Given the description of an element on the screen output the (x, y) to click on. 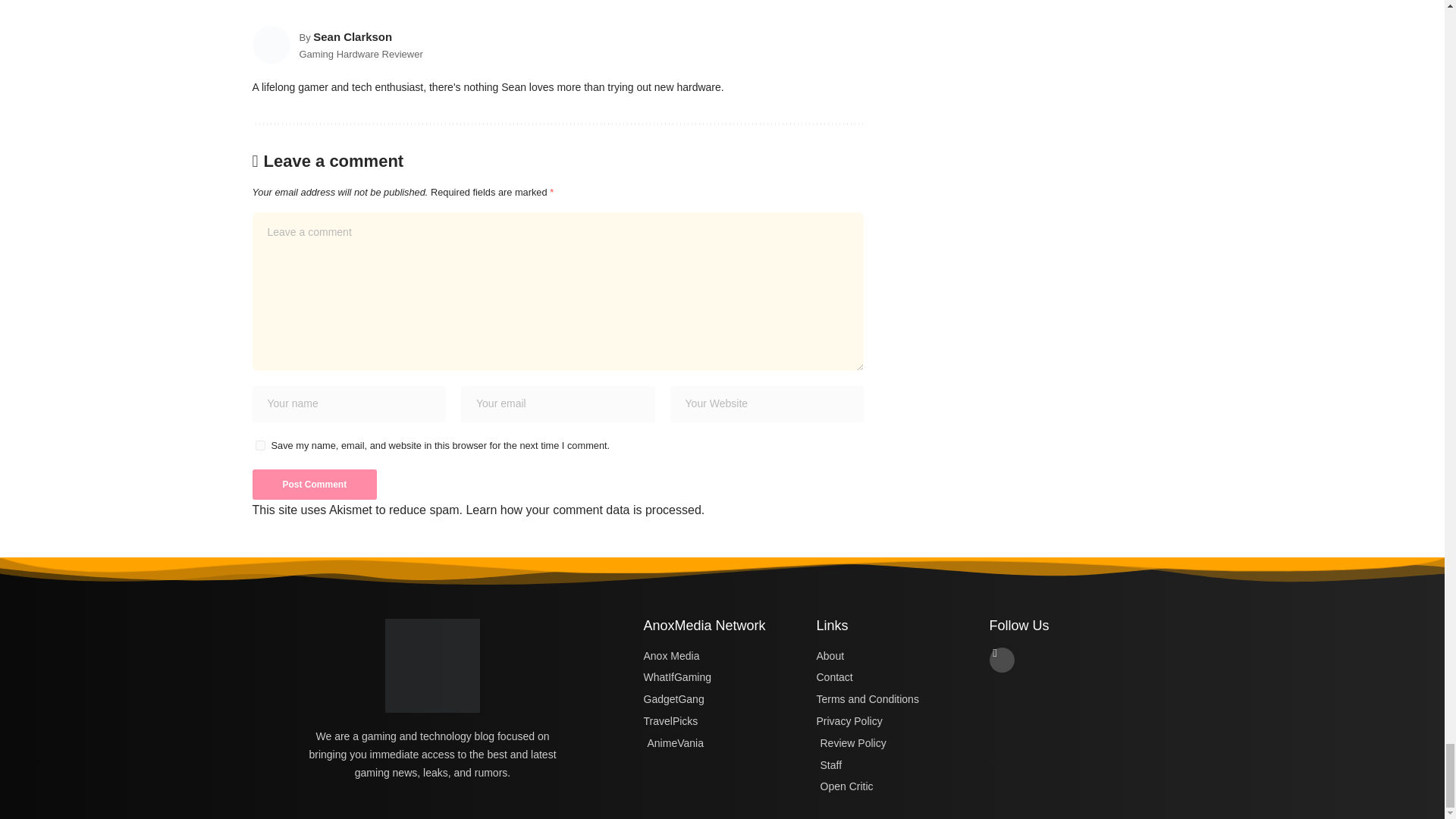
yes (259, 445)
Post Comment (314, 484)
